Given the description of an element on the screen output the (x, y) to click on. 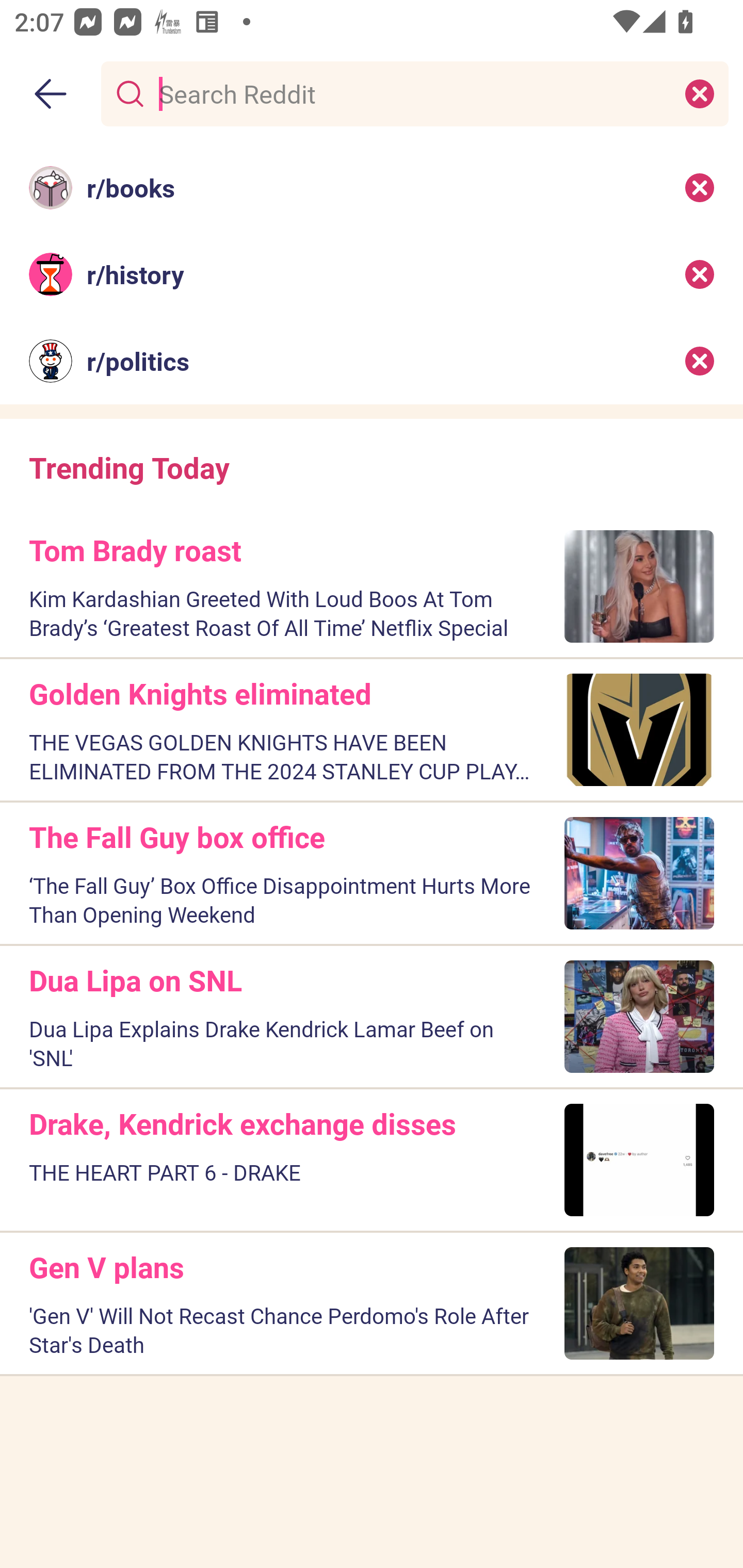
Back (50, 93)
Search Reddit (410, 93)
Clear search (699, 93)
r/books Recent search: r/books Remove (371, 187)
Remove (699, 187)
r/history Recent search: r/history Remove (371, 274)
Remove (699, 274)
r/politics Recent search: r/politics Remove (371, 361)
Remove (699, 361)
